Given the description of an element on the screen output the (x, y) to click on. 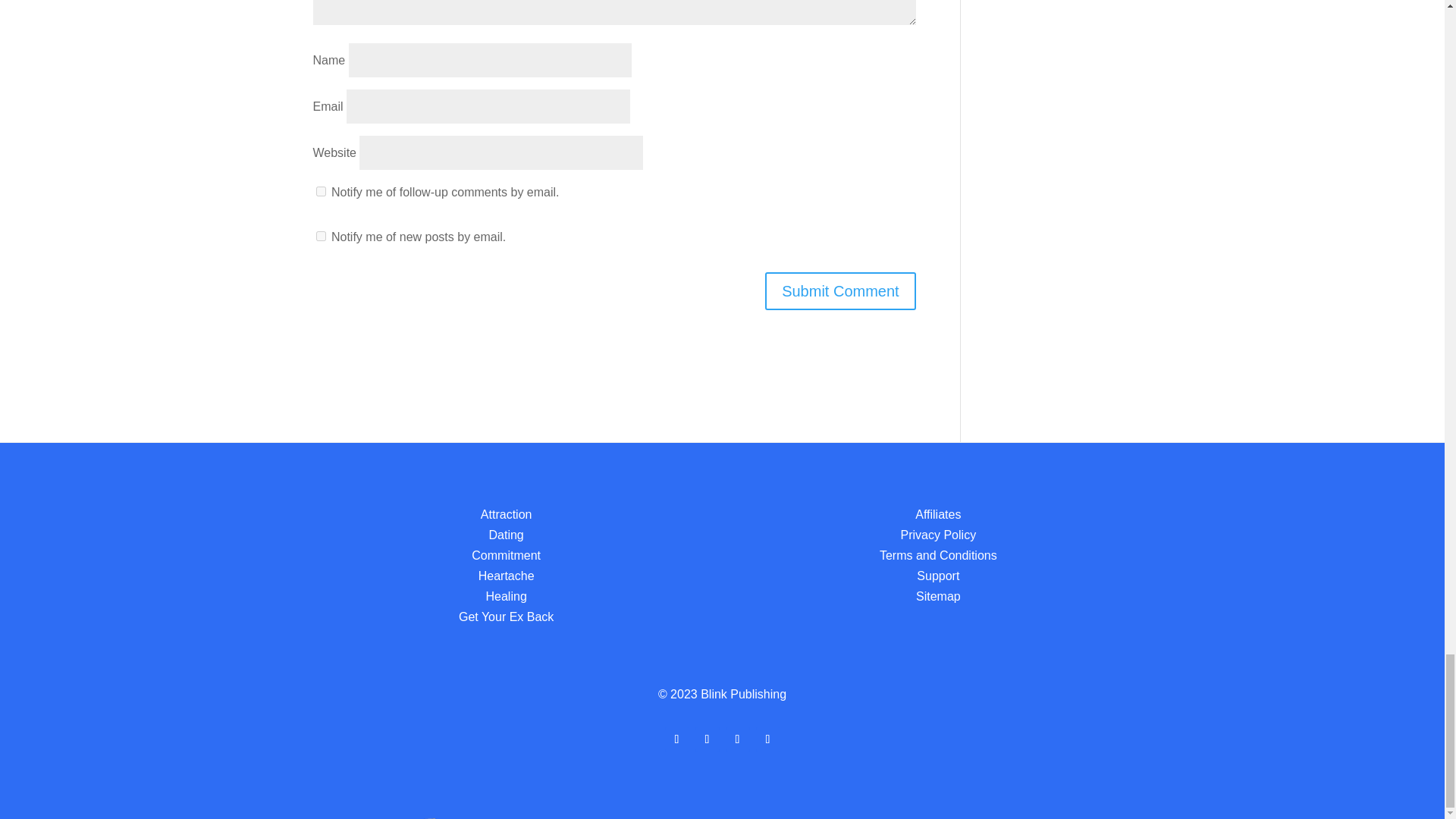
Submit Comment (840, 290)
Follow on Facebook (675, 738)
subscribe (319, 191)
Commitment (505, 554)
Follow on X (706, 738)
subscribe (319, 235)
Submit Comment (840, 290)
Dating (506, 534)
